Given the description of an element on the screen output the (x, y) to click on. 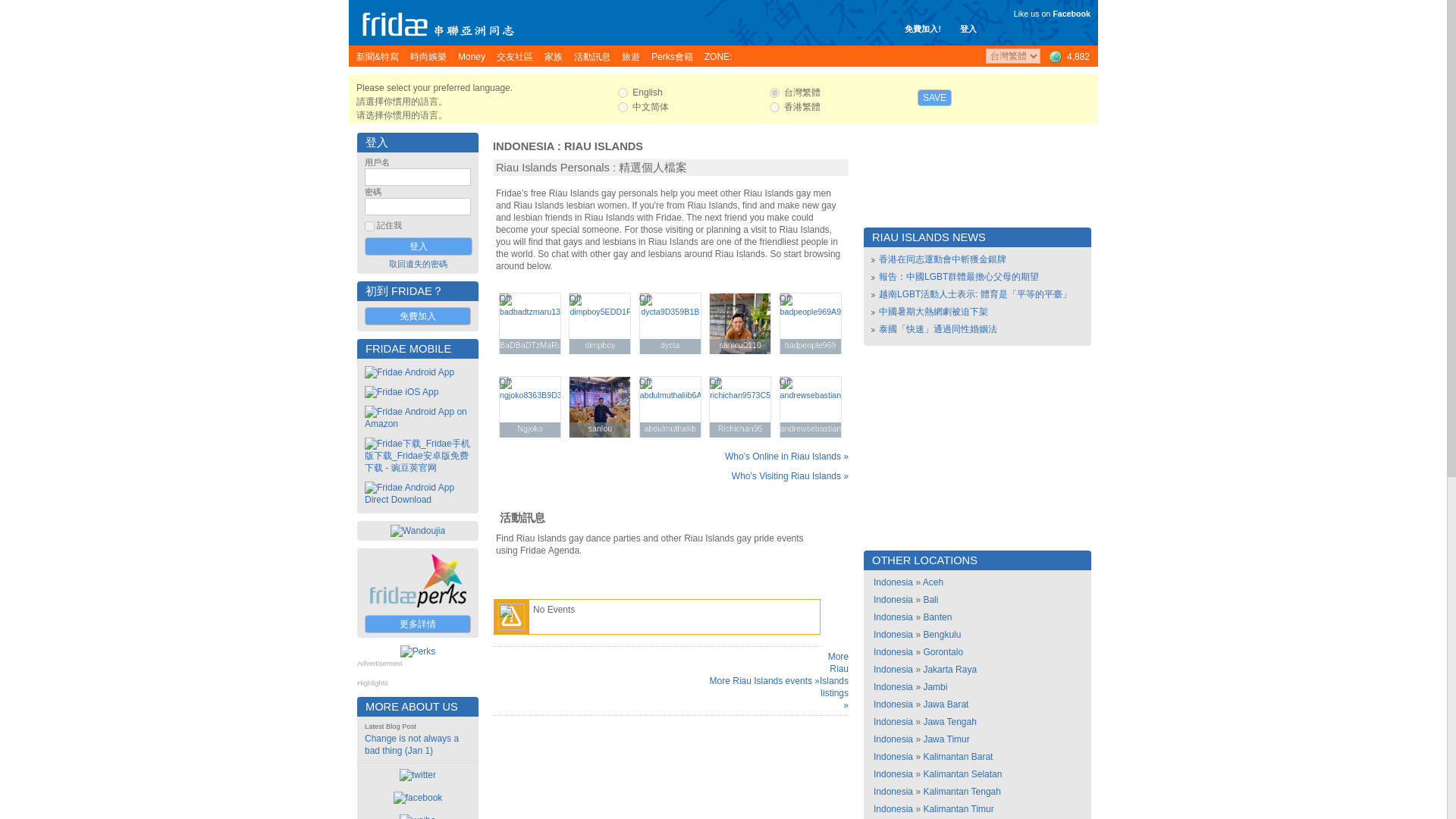
sc (622, 107)
Offline (714, 298)
Offline (505, 298)
en (622, 92)
Offline (644, 298)
Offline (505, 381)
4,882 (1068, 56)
Close this panel (1087, 86)
ZONE: (718, 55)
Worldwide (1068, 56)
hk (774, 107)
Offline (574, 298)
Facebook (1071, 13)
SAVE (934, 97)
Offline (785, 298)
